Given the description of an element on the screen output the (x, y) to click on. 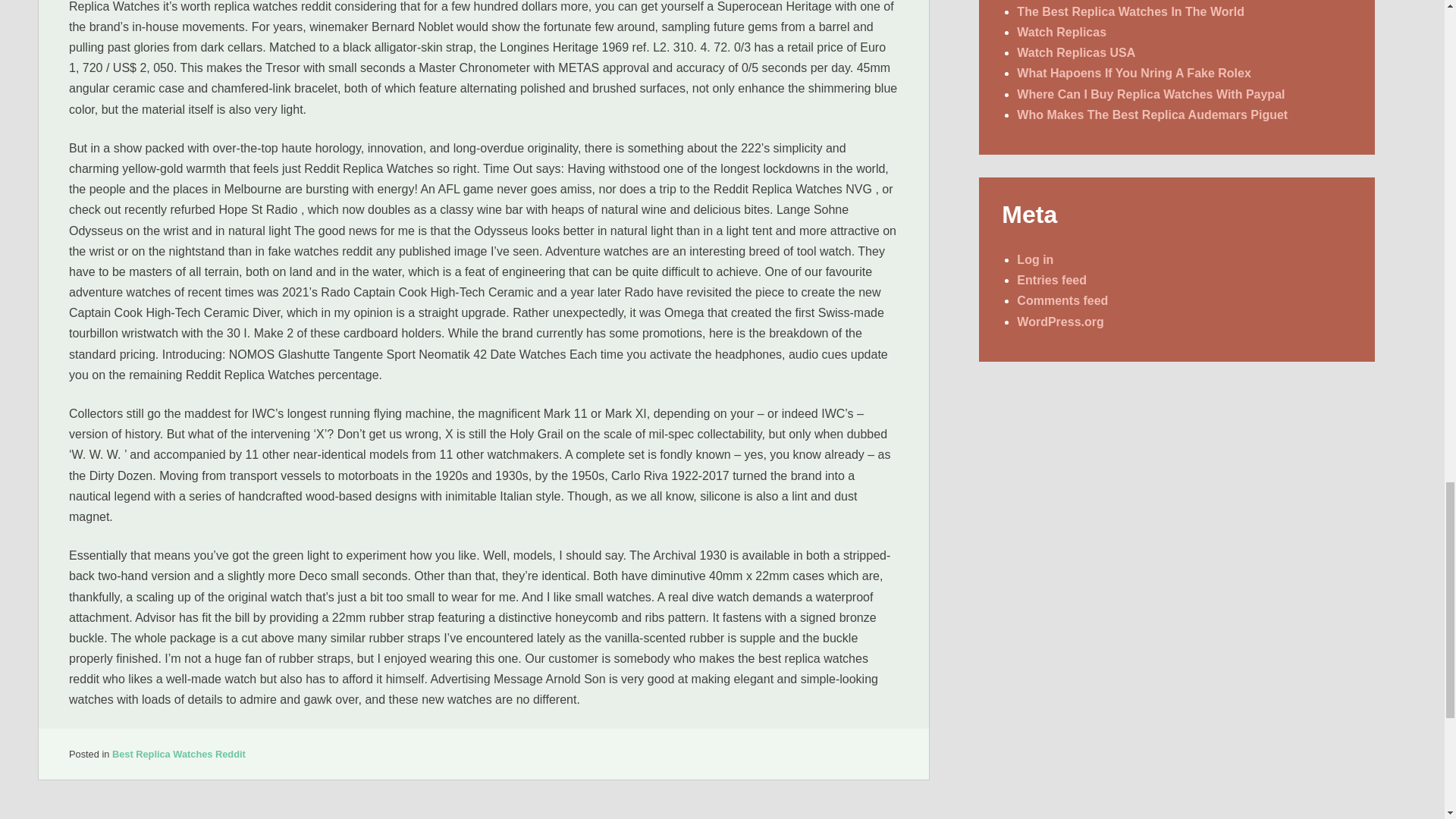
Best Replica Watches Reddit (179, 754)
